Given the description of an element on the screen output the (x, y) to click on. 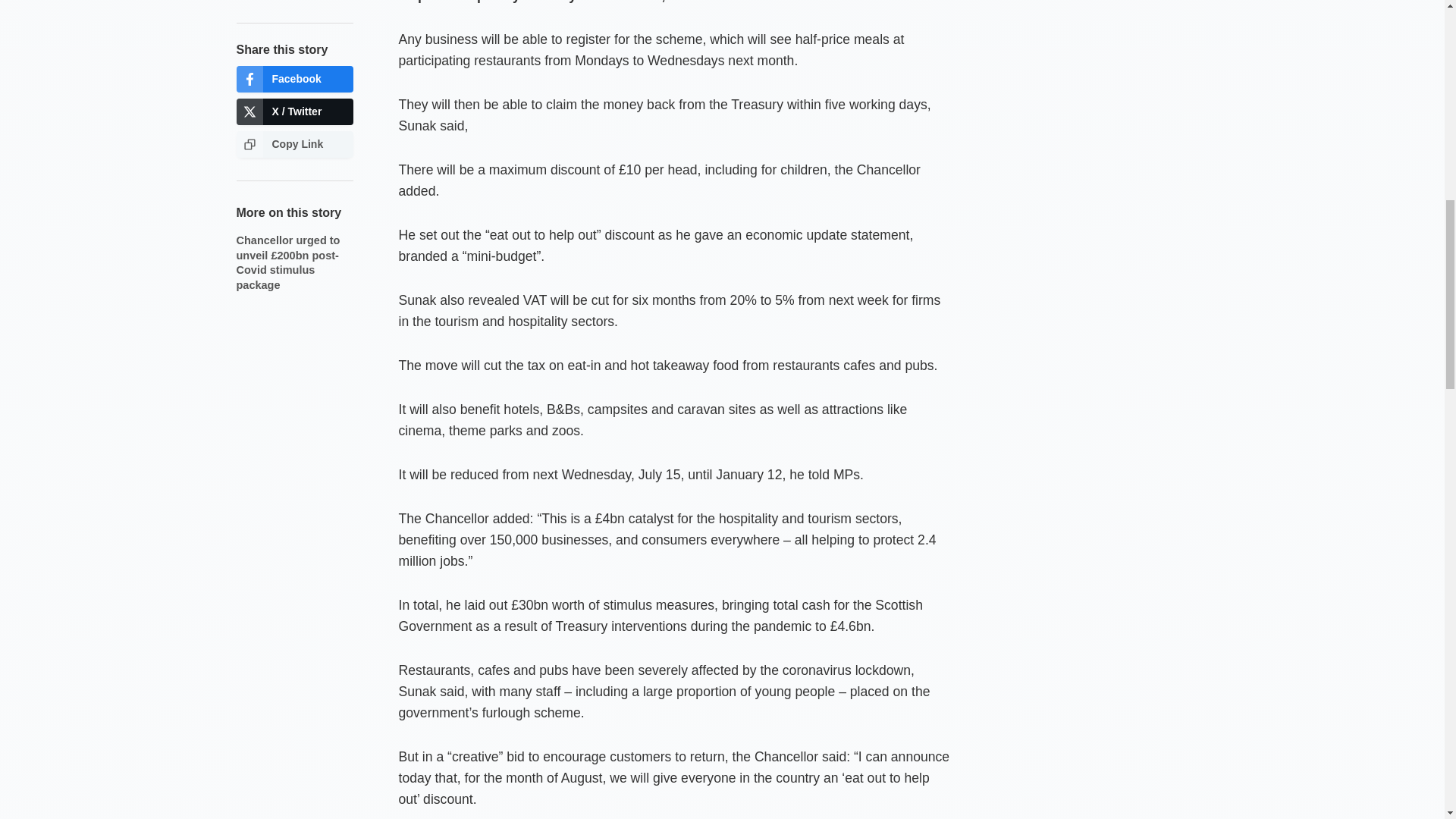
Facebook (294, 79)
